Given the description of an element on the screen output the (x, y) to click on. 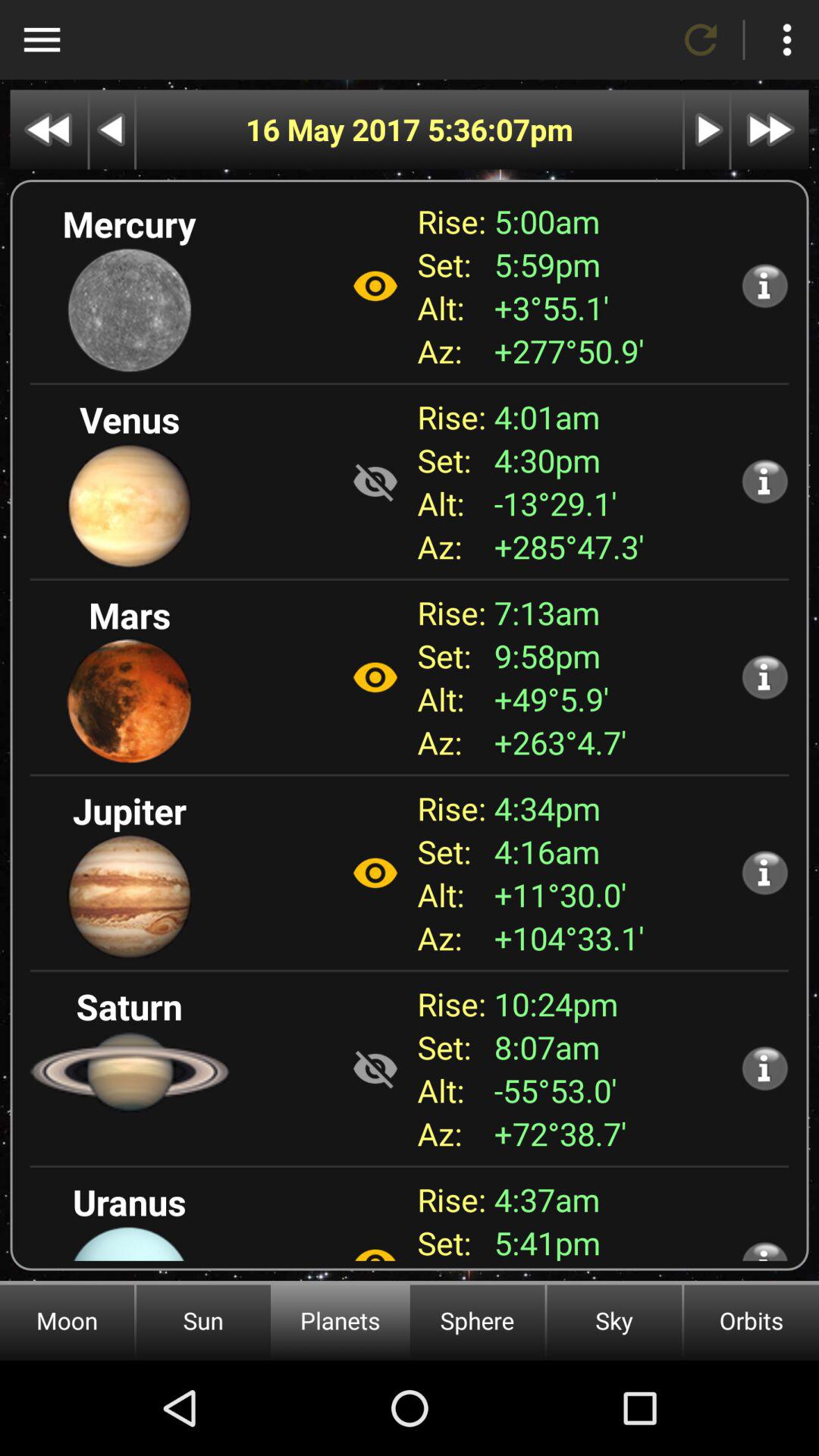
refresh the page (700, 39)
